Given the description of an element on the screen output the (x, y) to click on. 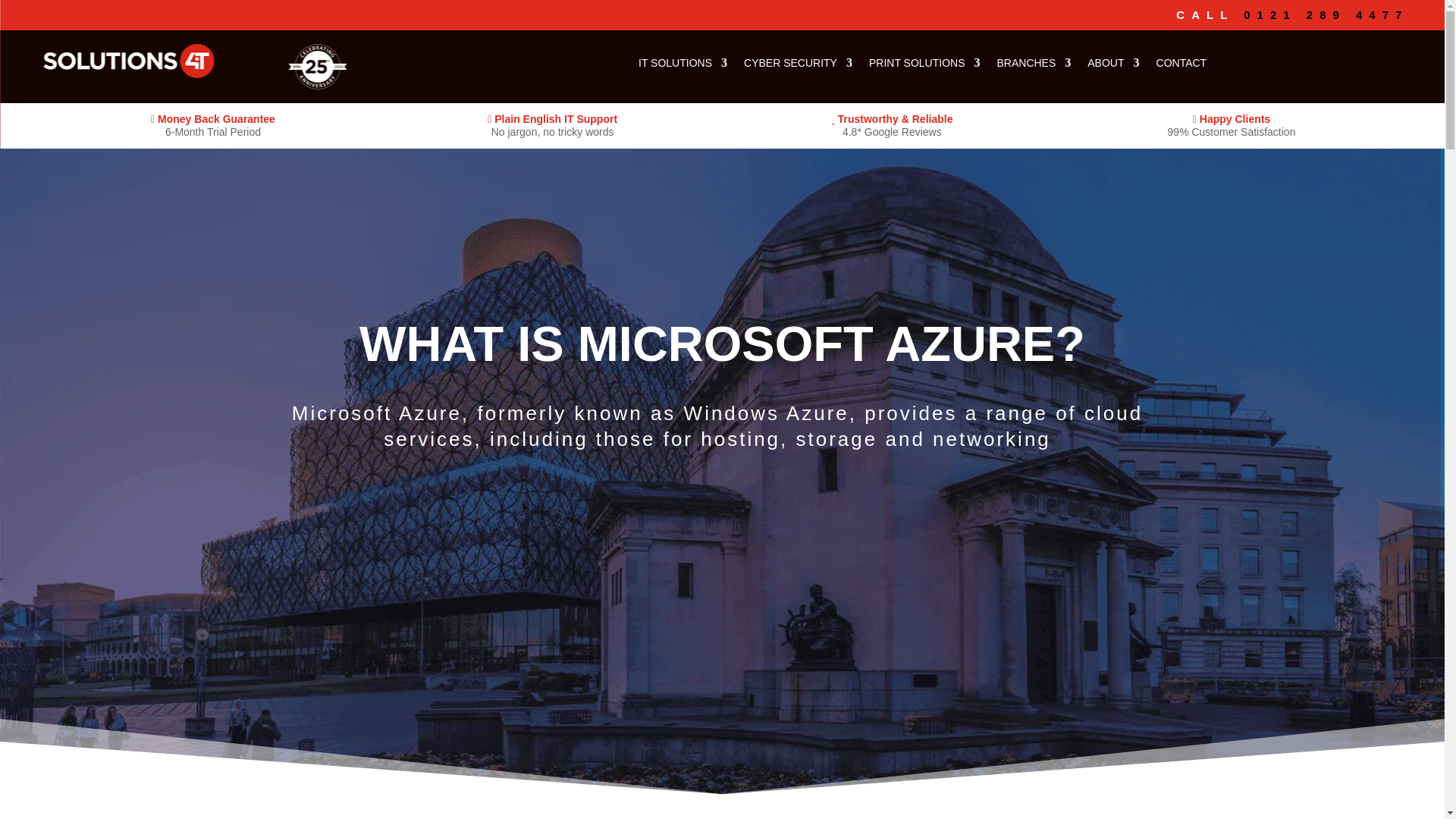
25-year-logo-wo (317, 66)
0121 289 4477 (1325, 14)
solutions4it-45pixelshigh (128, 60)
25-year-logo-wo (539, 78)
IT SOLUTIONS (1013, 65)
PRINT SOLUTIONS (1254, 65)
25-year-logo-wo (81, 86)
CYBER SECURITY (1128, 65)
BRANCHES (1363, 65)
